Given the description of an element on the screen output the (x, y) to click on. 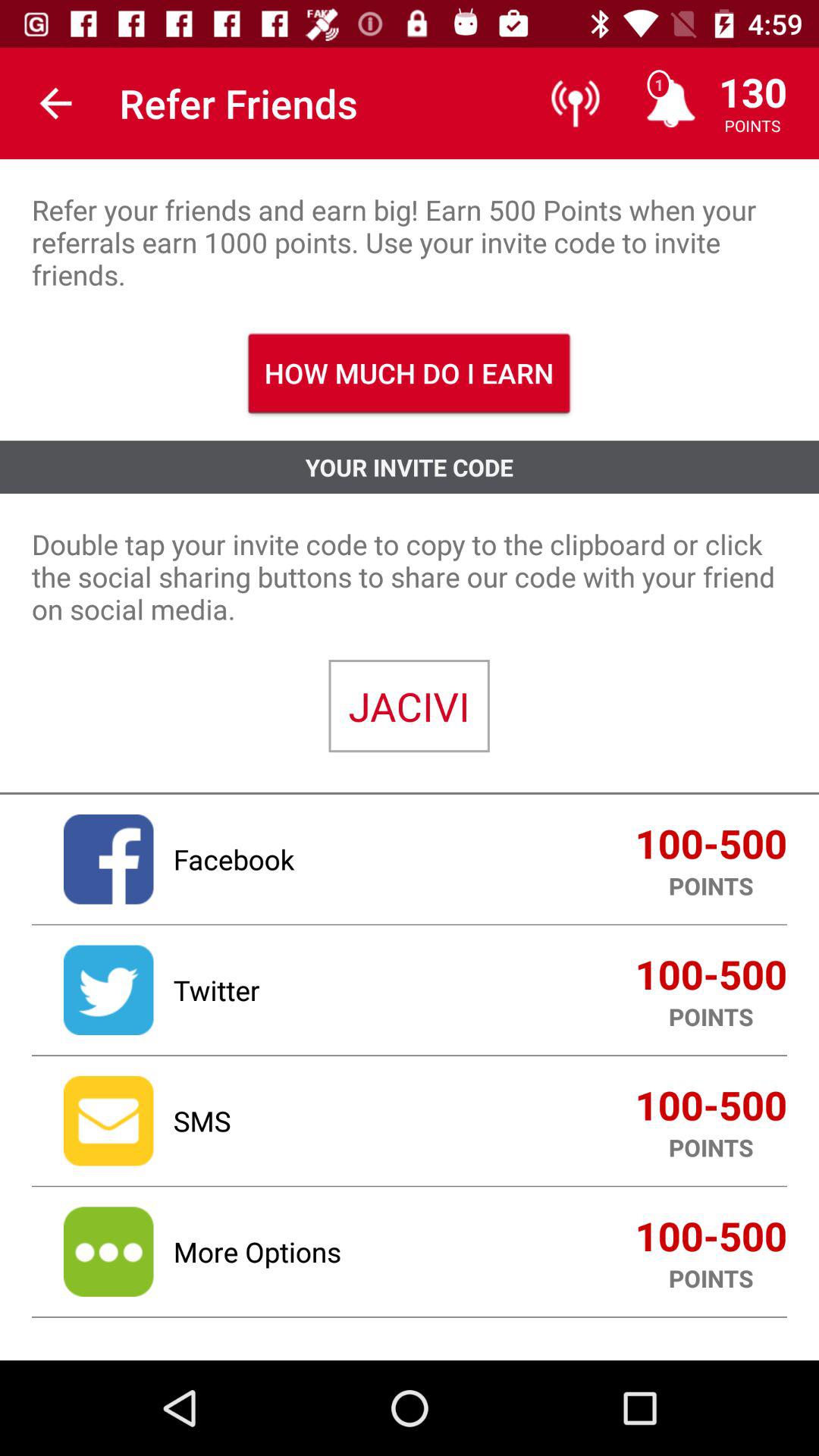
press the icon below the double tap your (408, 705)
